Given the description of an element on the screen output the (x, y) to click on. 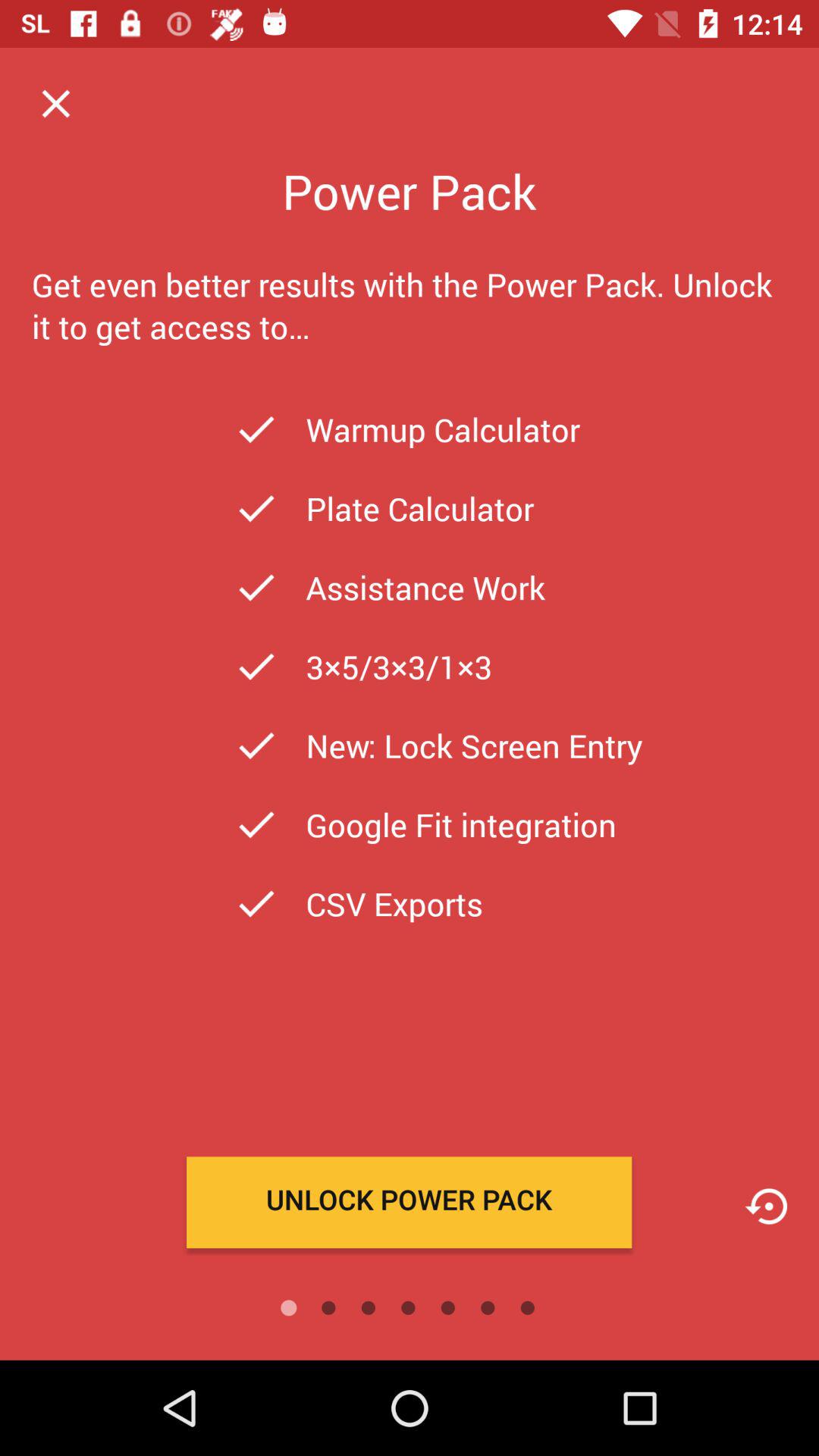
cancel button (55, 103)
